Given the description of an element on the screen output the (x, y) to click on. 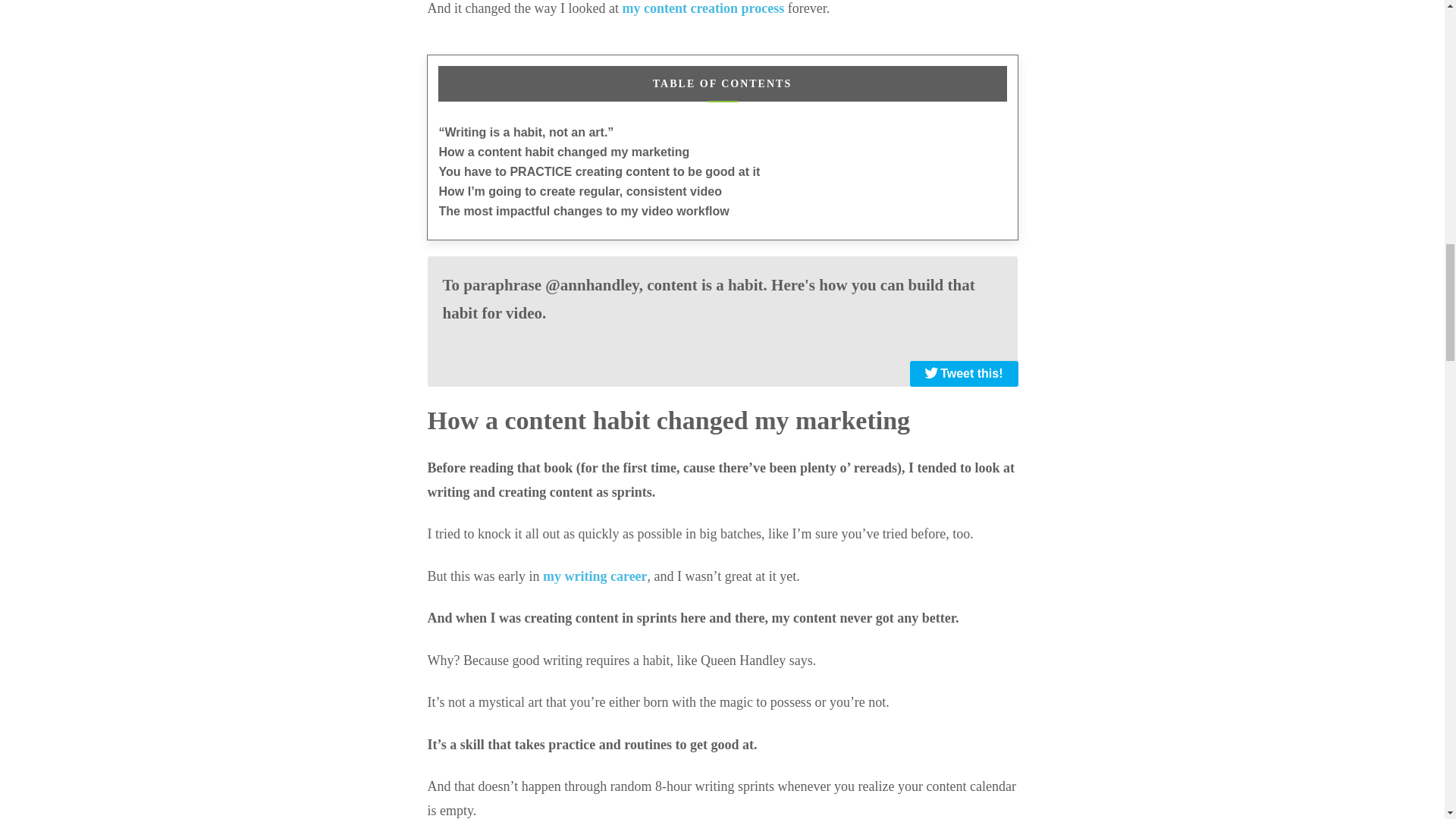
The most impactful changes to my video workflow (583, 211)
How a content habit changed my marketing (563, 152)
my content creation process (702, 7)
my writing career (595, 575)
How a content habit changed my marketing (563, 152)
You have to PRACTICE creating content to be good at it (599, 171)
The most impactful changes to my video workflow (583, 211)
You have to PRACTICE creating content to be good at it (599, 171)
